Given the description of an element on the screen output the (x, y) to click on. 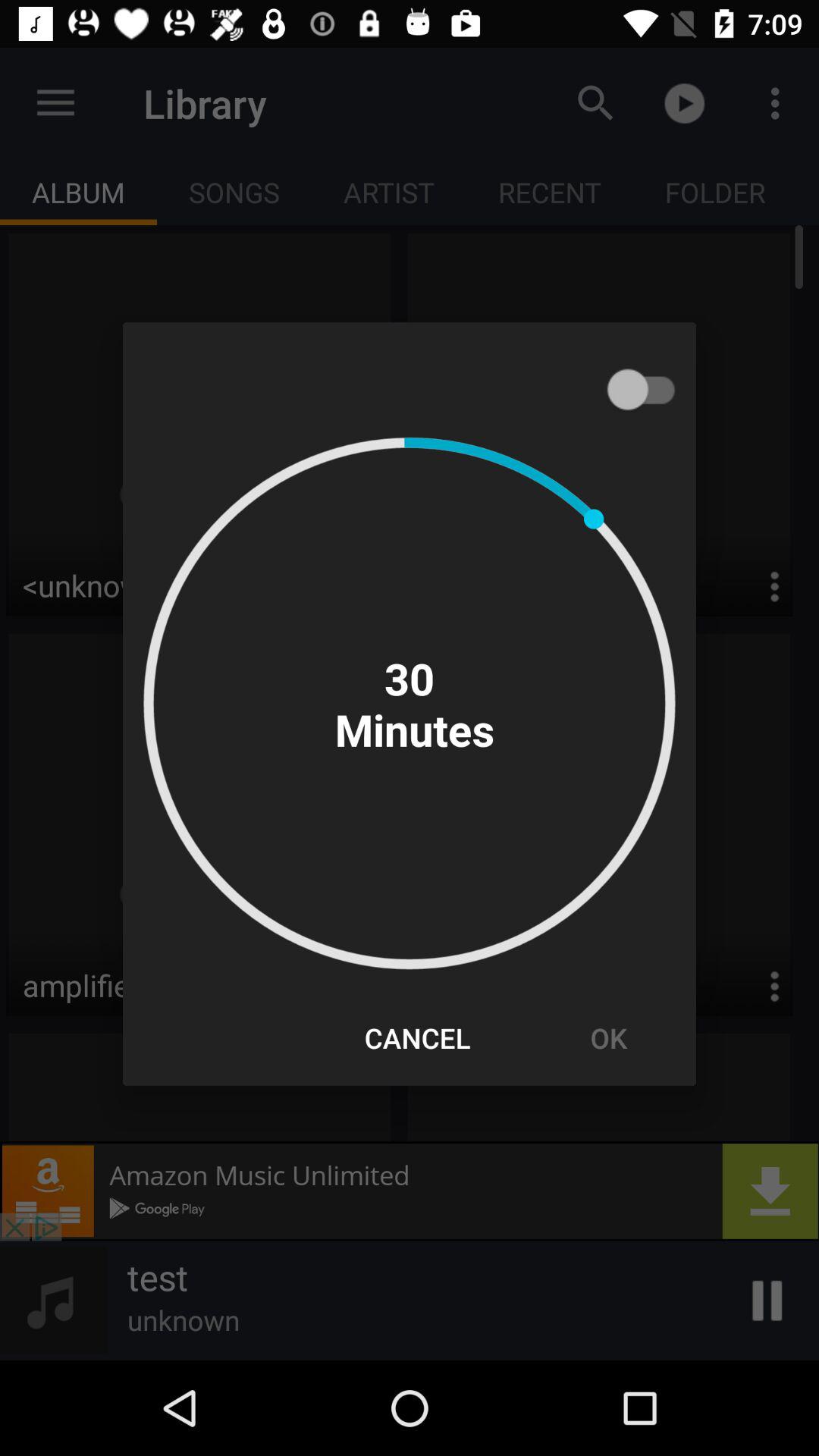
turn on item at the top right corner (648, 389)
